Given the description of an element on the screen output the (x, y) to click on. 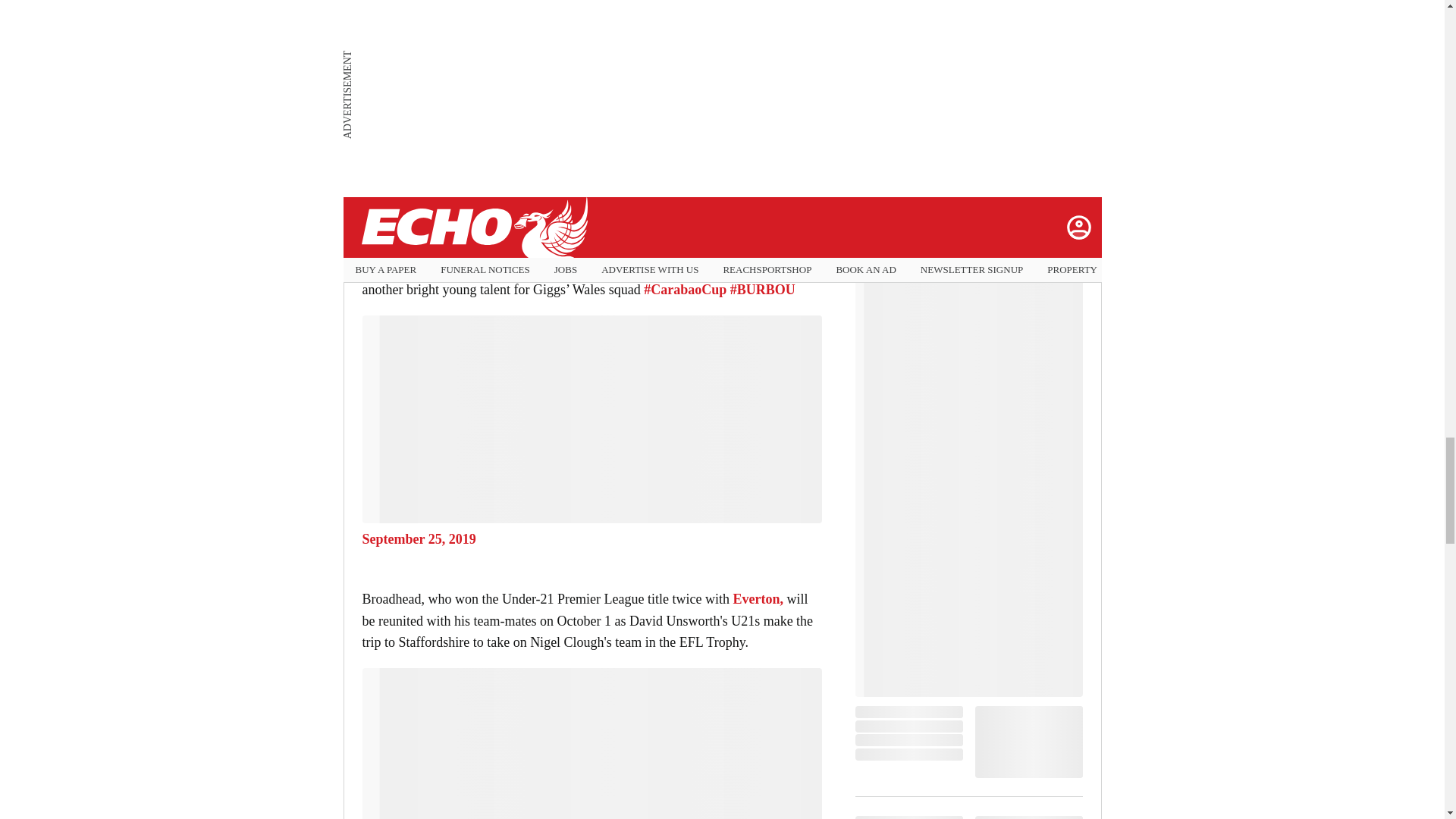
Everton, (757, 598)
September 25, 2019 (592, 208)
September 25, 2019 (592, 539)
